Given the description of an element on the screen output the (x, y) to click on. 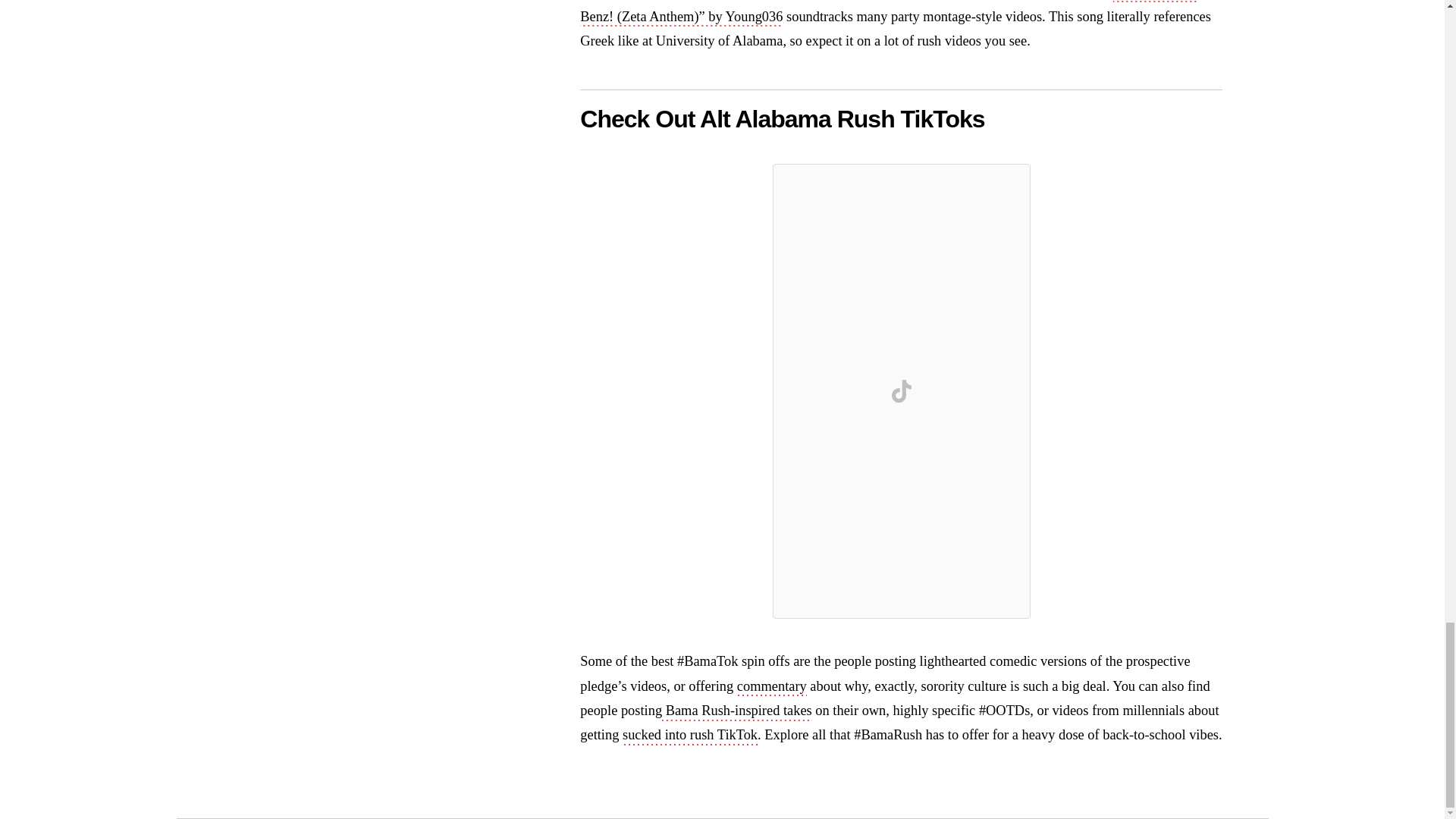
Bama Rush-inspired takes (737, 711)
sucked into rush TikTok (690, 736)
commentary (771, 687)
View on TikTok (901, 391)
